Given the description of an element on the screen output the (x, y) to click on. 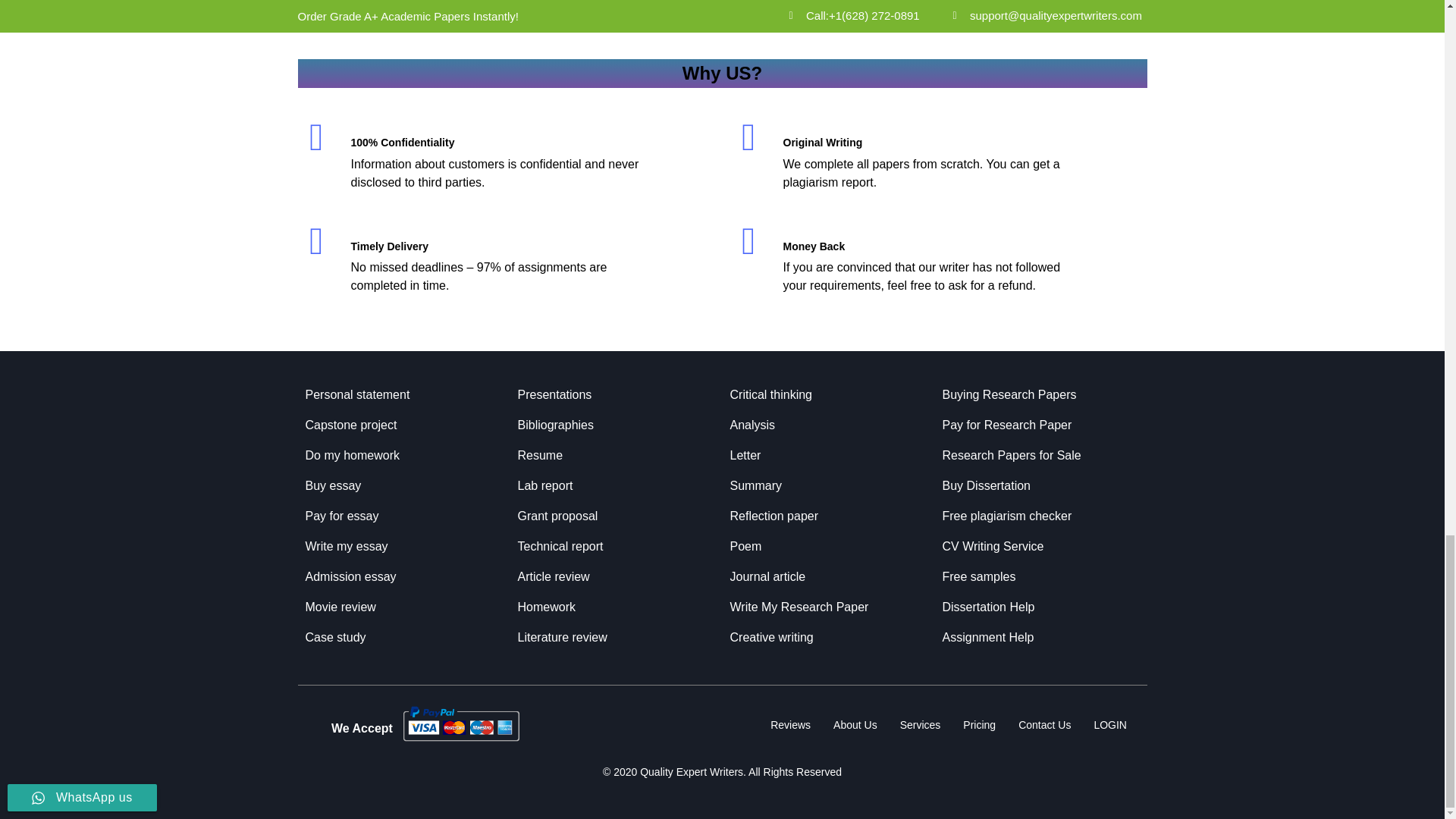
LOGIN (1109, 724)
Pricing (979, 724)
Contact Us (1044, 724)
Services (920, 724)
About Us (855, 724)
Reviews (790, 724)
